Given the description of an element on the screen output the (x, y) to click on. 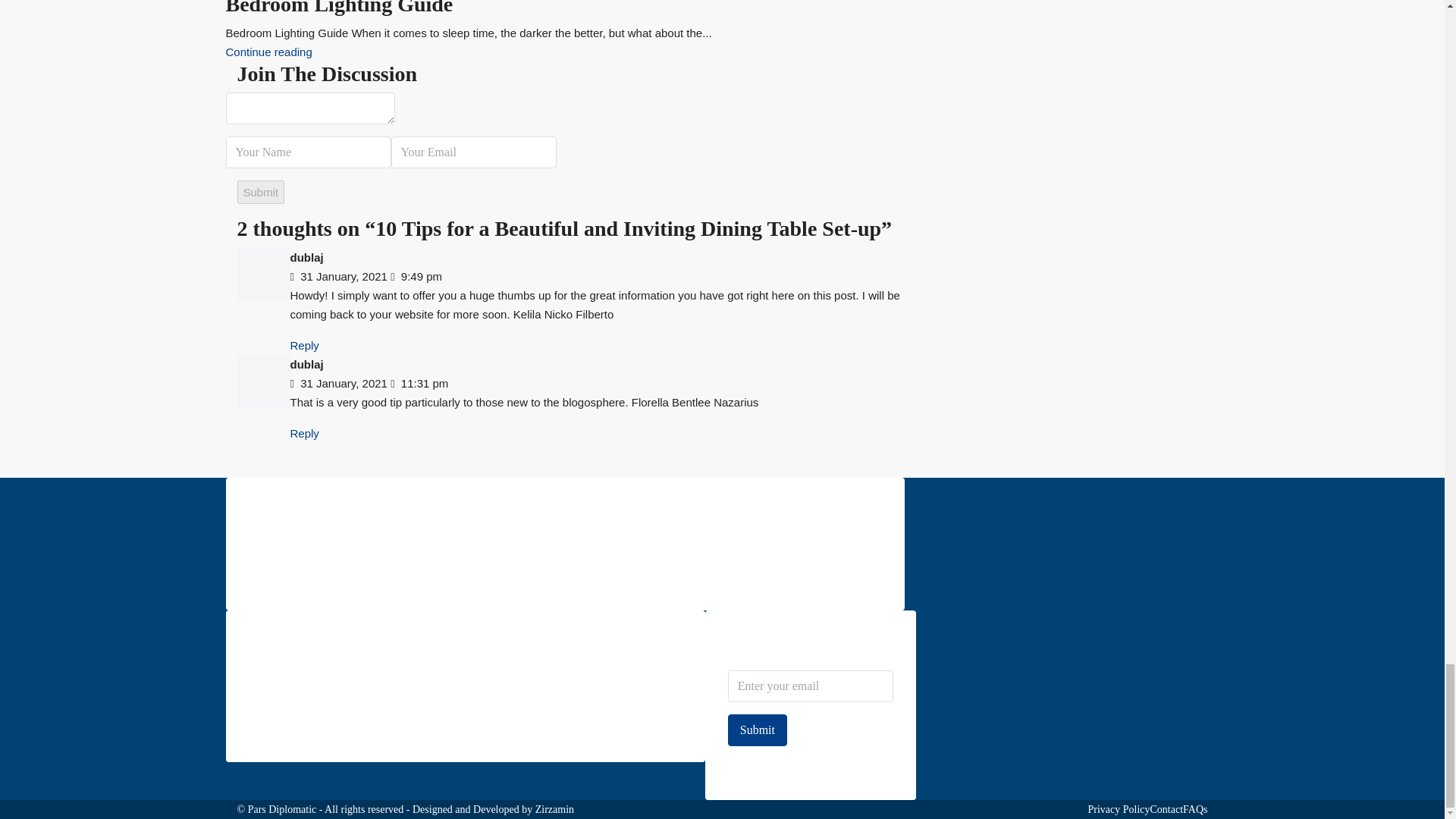
Submit (259, 191)
